Given the description of an element on the screen output the (x, y) to click on. 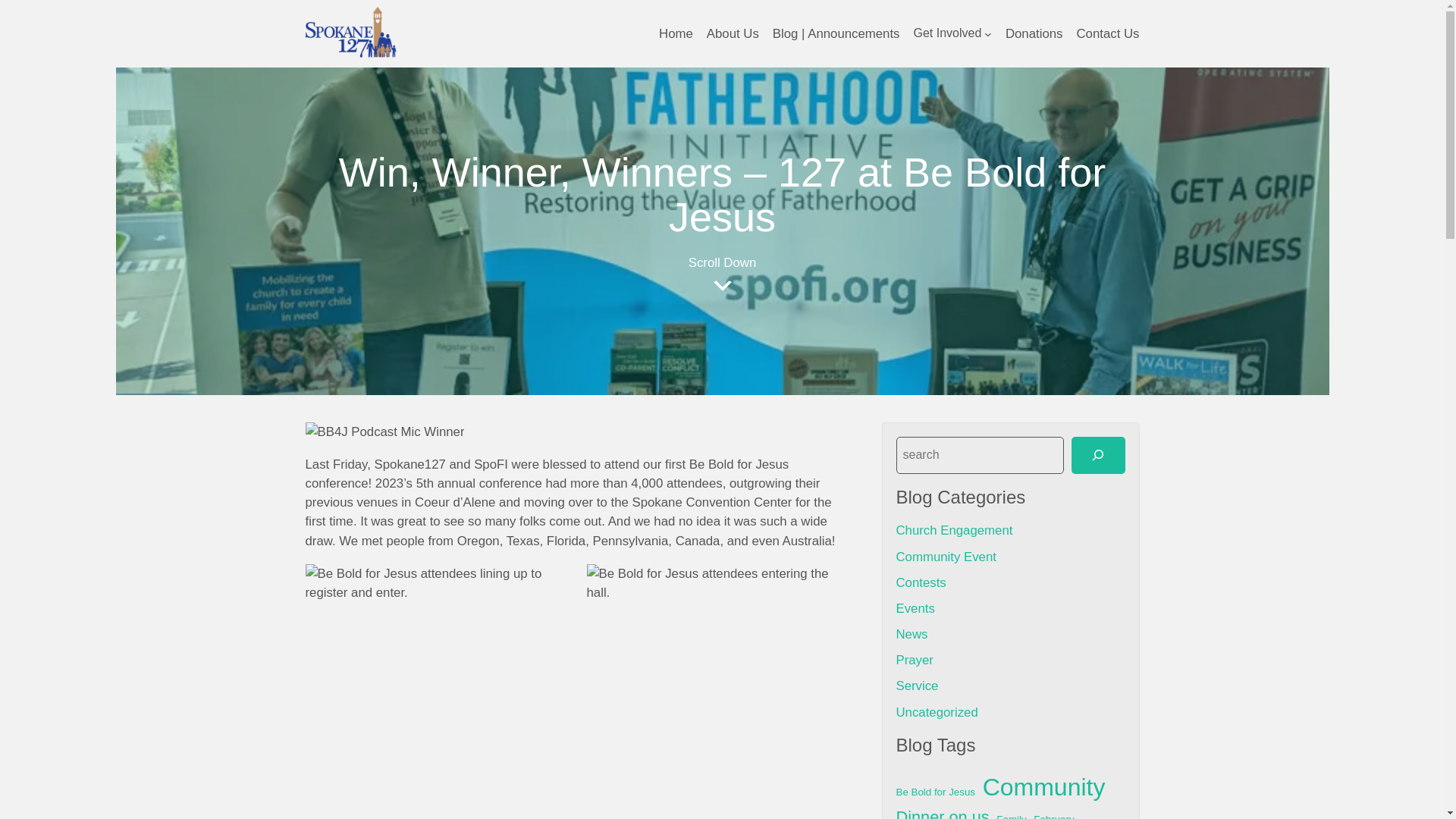
Scroll Down (721, 275)
Dinner on us (943, 812)
Community (1043, 787)
Church Engagement (954, 530)
Be Bold for Jesus (935, 792)
February (1053, 815)
Prayer (914, 659)
Donations (1034, 33)
Uncategorized (937, 712)
Home (676, 33)
